Given the description of an element on the screen output the (x, y) to click on. 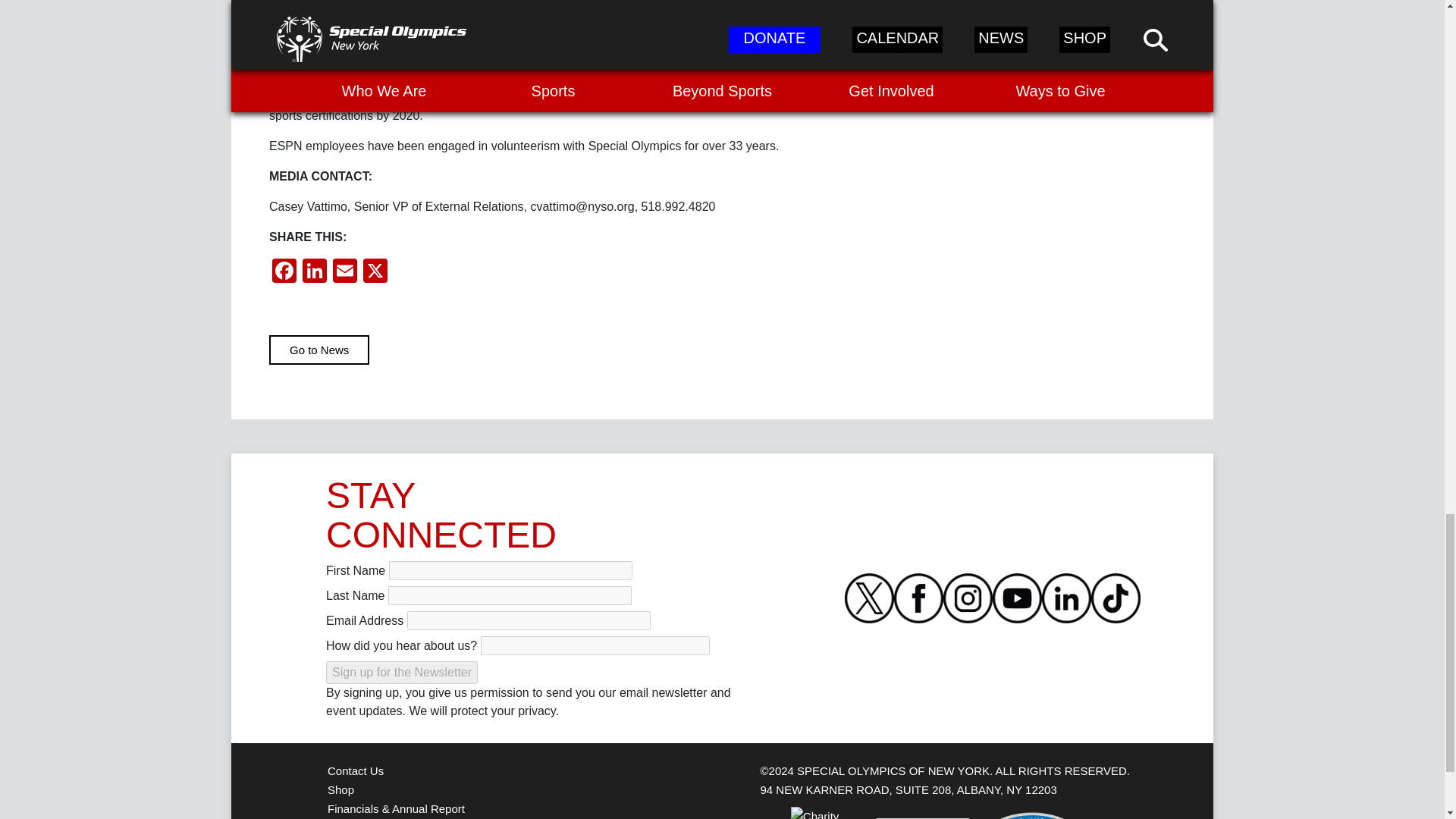
Email (344, 272)
X (374, 272)
LinkedIn (314, 272)
Sign up for the Newsletter (401, 671)
Facebook (284, 272)
